Given the description of an element on the screen output the (x, y) to click on. 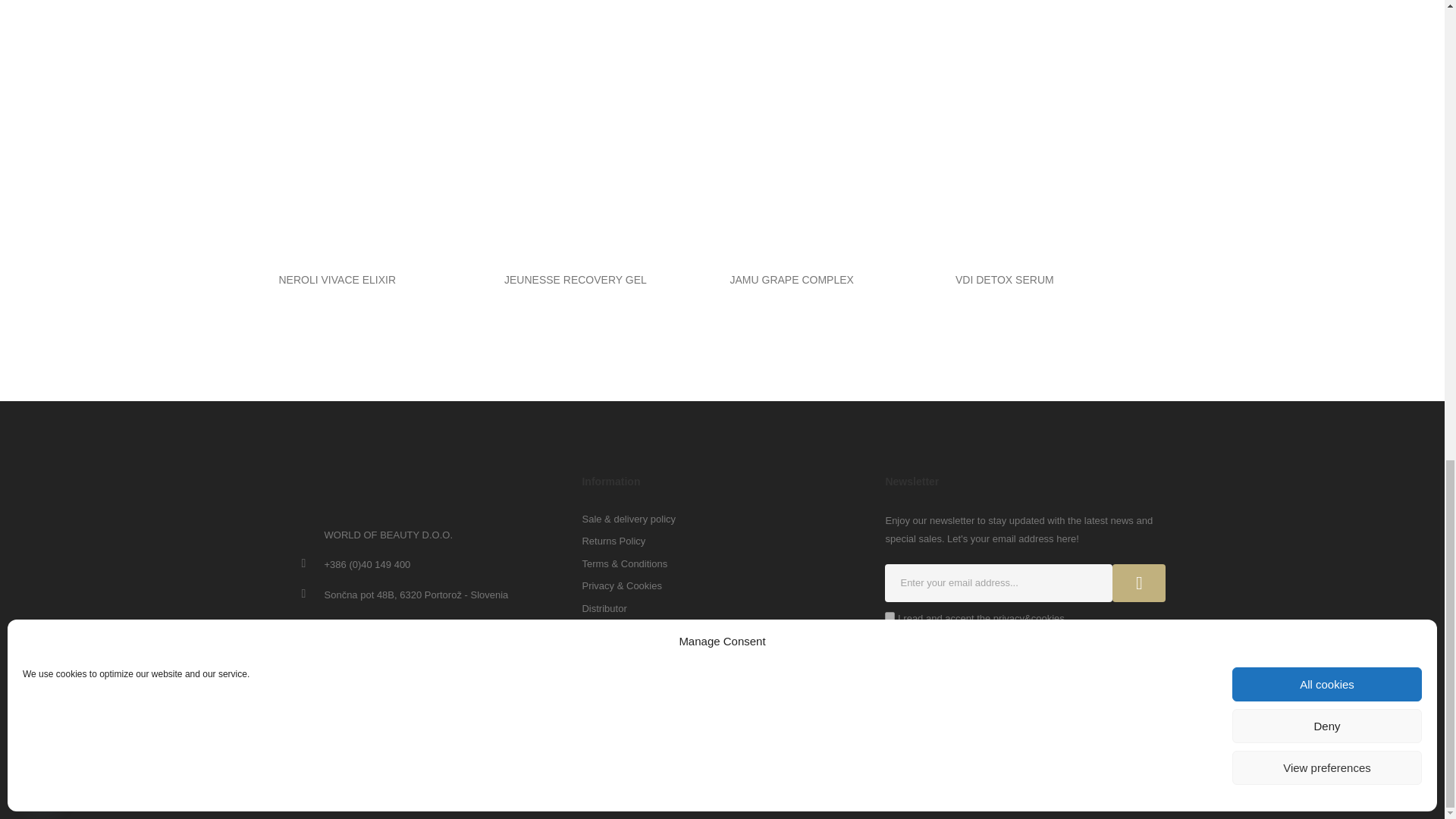
1 (890, 616)
